Given the description of an element on the screen output the (x, y) to click on. 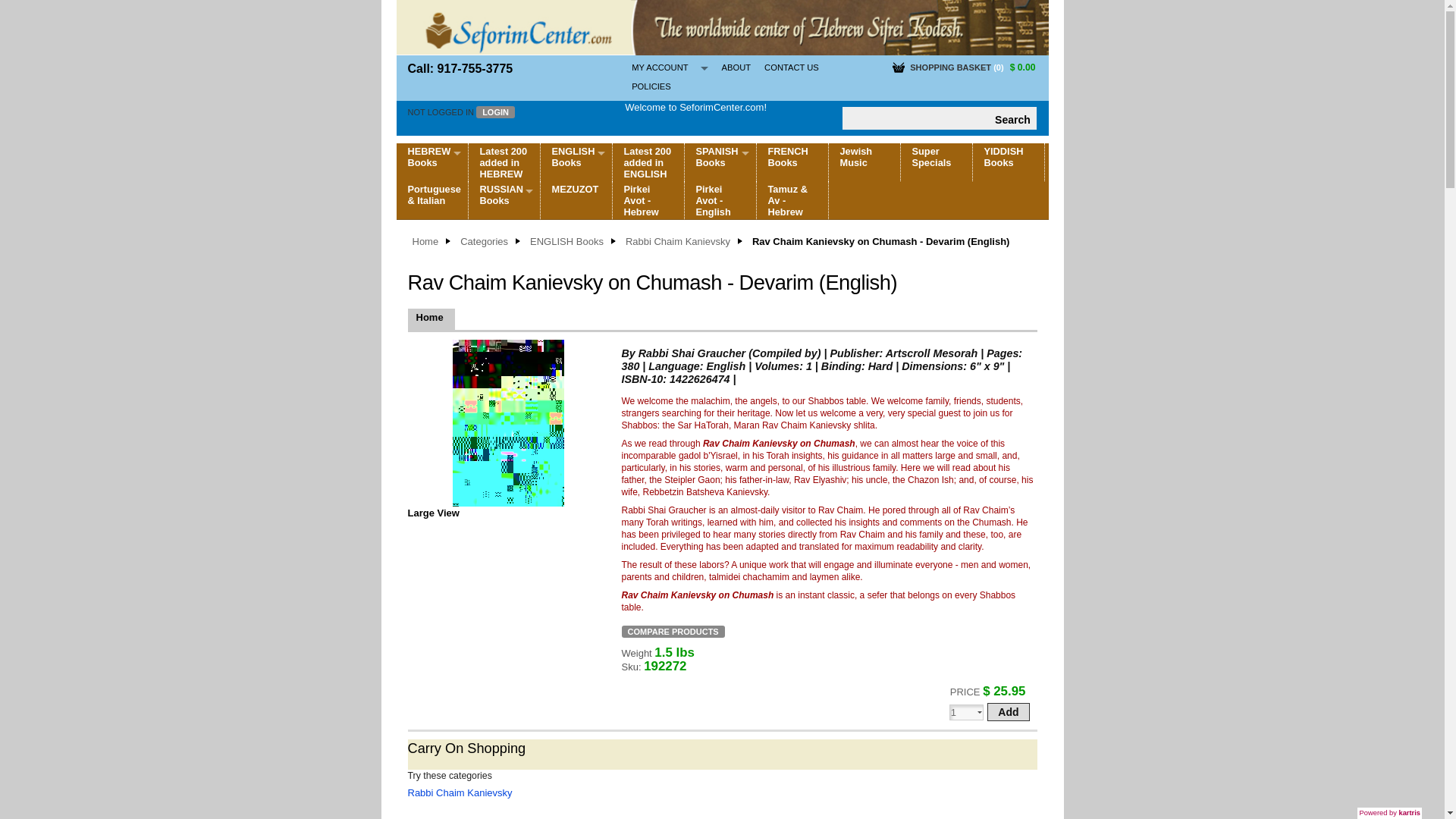
LOGIN (495, 111)
Etz Chaim with commentaries (502, 277)
Add (1008, 711)
Sefer Yetzirah (502, 260)
By Chassidic Rabbis (502, 348)
Policies (651, 86)
Brit Menucha (502, 312)
Zohar Sets (502, 224)
Otzrot Chaim with commentaries (502, 294)
Search (1012, 118)
